Given the description of an element on the screen output the (x, y) to click on. 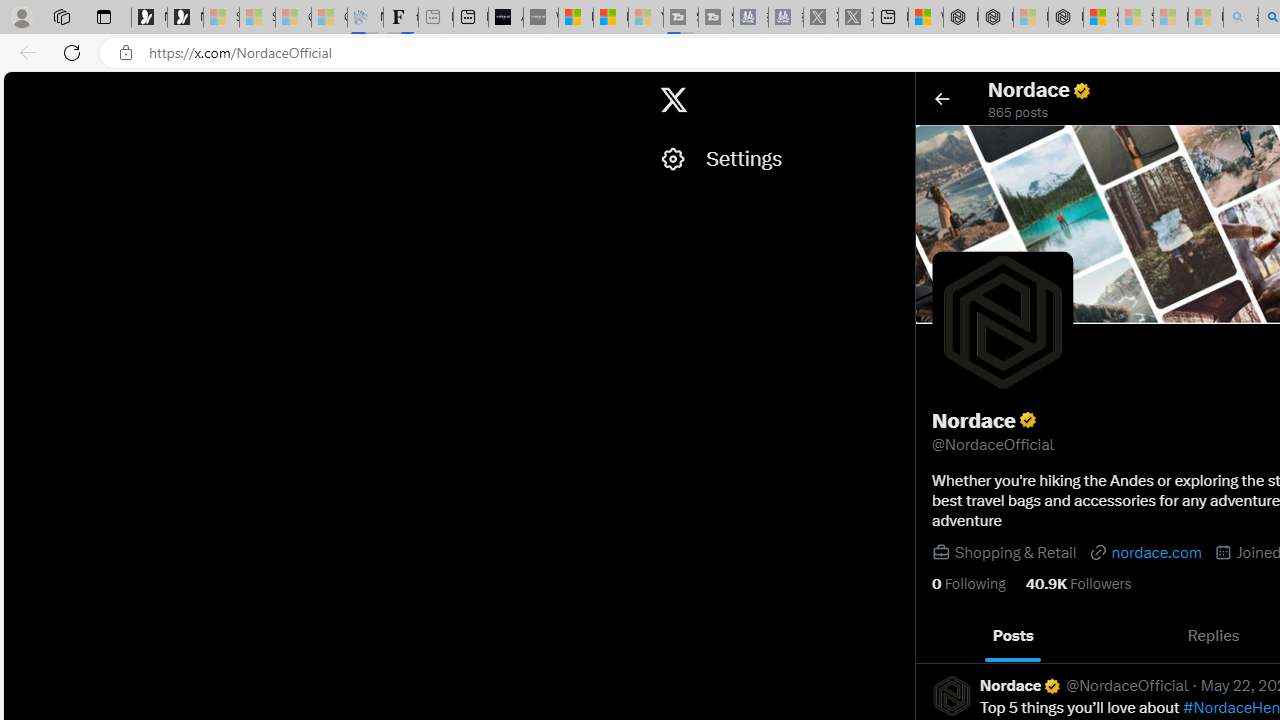
Skip to home timeline (21, 90)
Shopping & Retail (1014, 551)
Square profile picture and Opens profile photo (1003, 322)
AI Voice Changer for PC and Mac - Voice.ai (506, 17)
Provides details about verified accounts. (1027, 420)
Verified account (1052, 686)
Square profile picture (951, 695)
Posts (1013, 636)
